Given the description of an element on the screen output the (x, y) to click on. 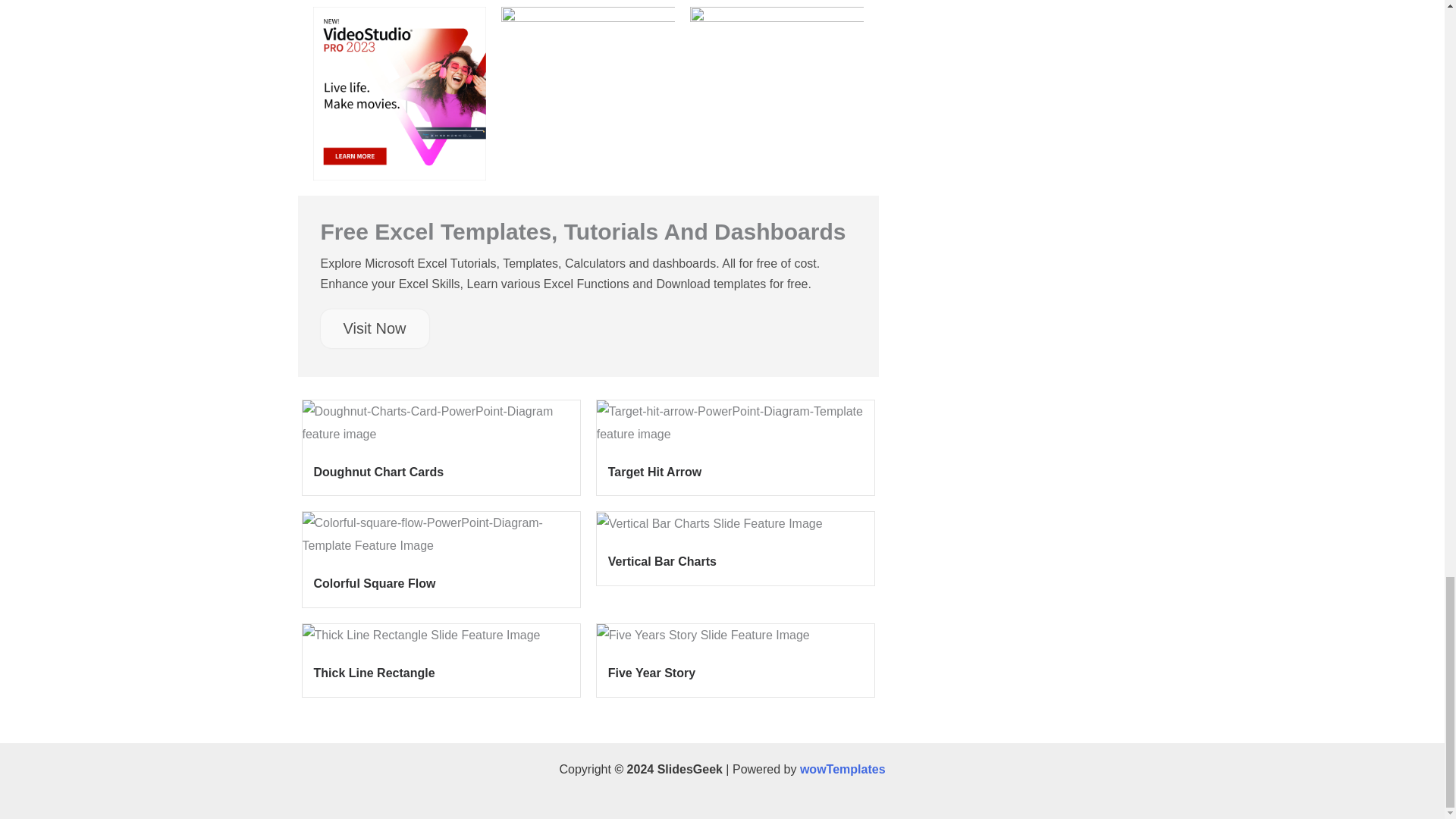
Vertical Bar Charts (662, 561)
Colorful Square Flow (374, 583)
Target Hit Arrow (654, 472)
Five Year Story (651, 672)
Thick Line Rectangle (374, 672)
Doughnut Chart Cards (379, 472)
